Given the description of an element on the screen output the (x, y) to click on. 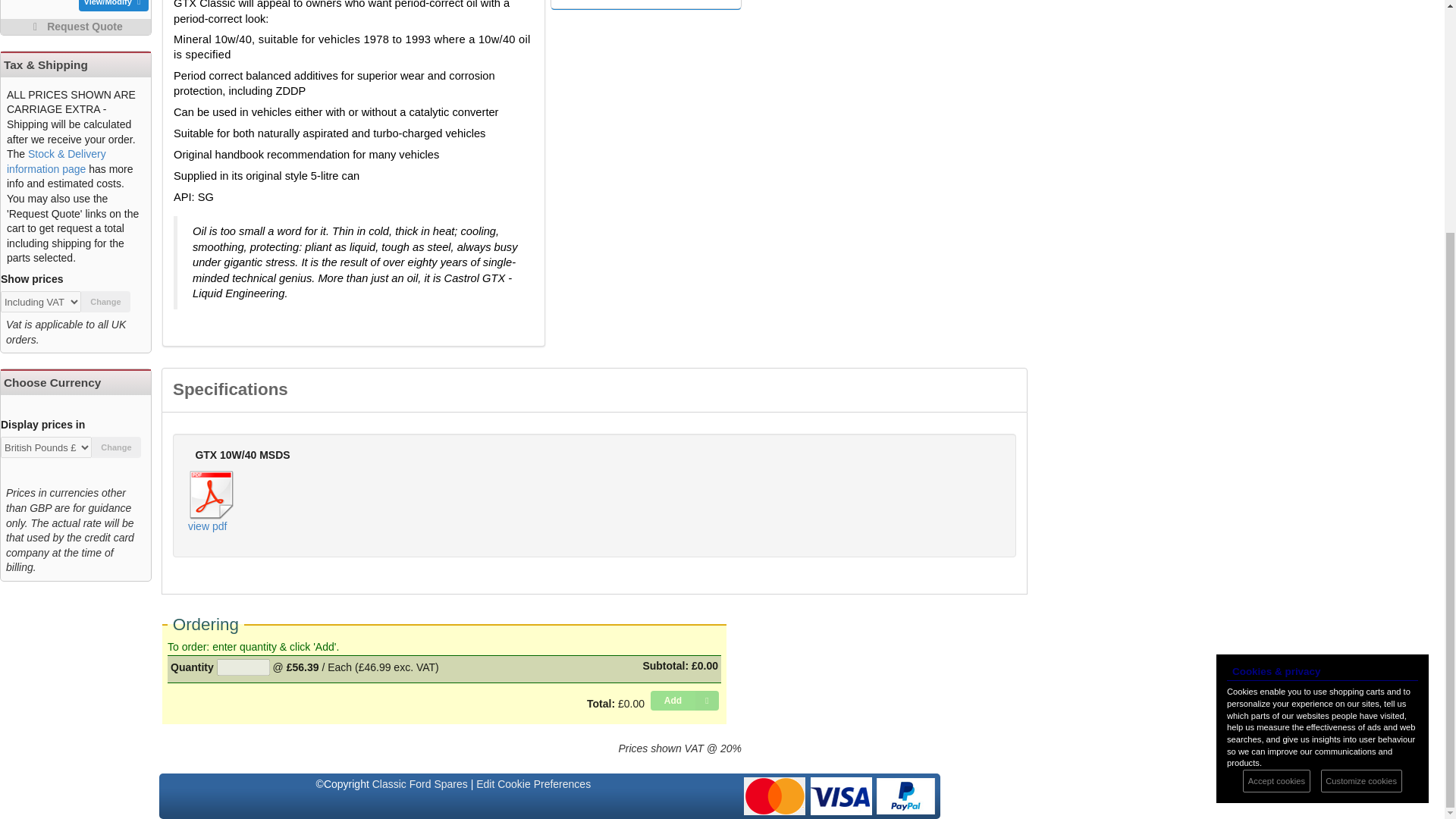
Customize cookies (1361, 465)
Edit Cookie Preferences (533, 784)
Request Quote (75, 26)
Accept cookies (1275, 465)
Change (106, 301)
Shopping Cart (76, 17)
view pdf (211, 510)
Change (116, 446)
Add (684, 700)
Classic Ford Spares (419, 784)
